Given the description of an element on the screen output the (x, y) to click on. 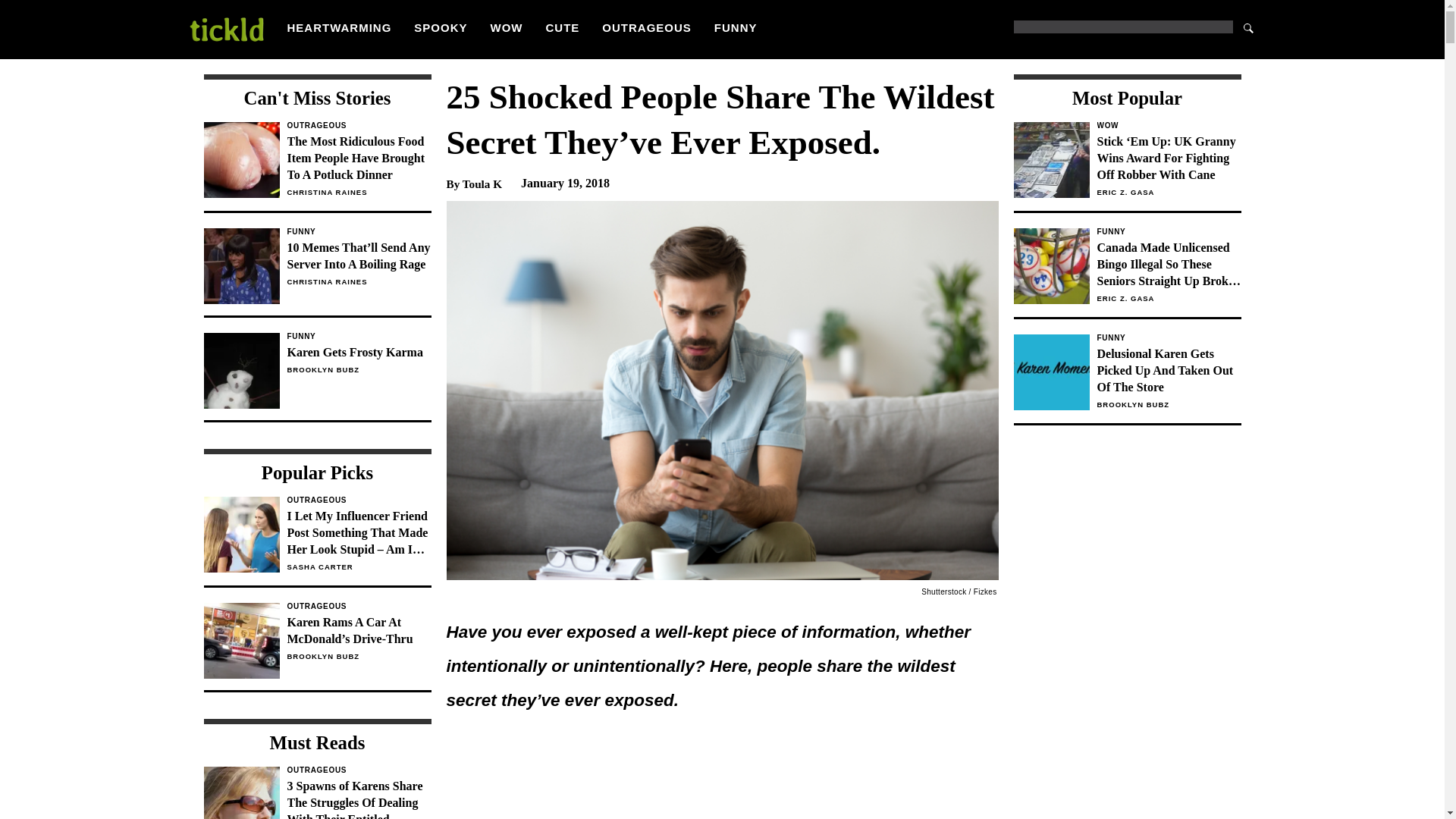
Tickld (225, 29)
Funny (358, 231)
FUNNY (735, 26)
CUTE (562, 26)
WOW (506, 26)
Funny (1168, 338)
Search (1248, 27)
HEARTWARMING (338, 26)
Search (1248, 27)
Outrageous (358, 125)
WOW (1168, 125)
Delusional Karen Gets Picked Up And Taken Out Of The Store (1168, 370)
By Toula K (473, 182)
Search (1248, 27)
